Given the description of an element on the screen output the (x, y) to click on. 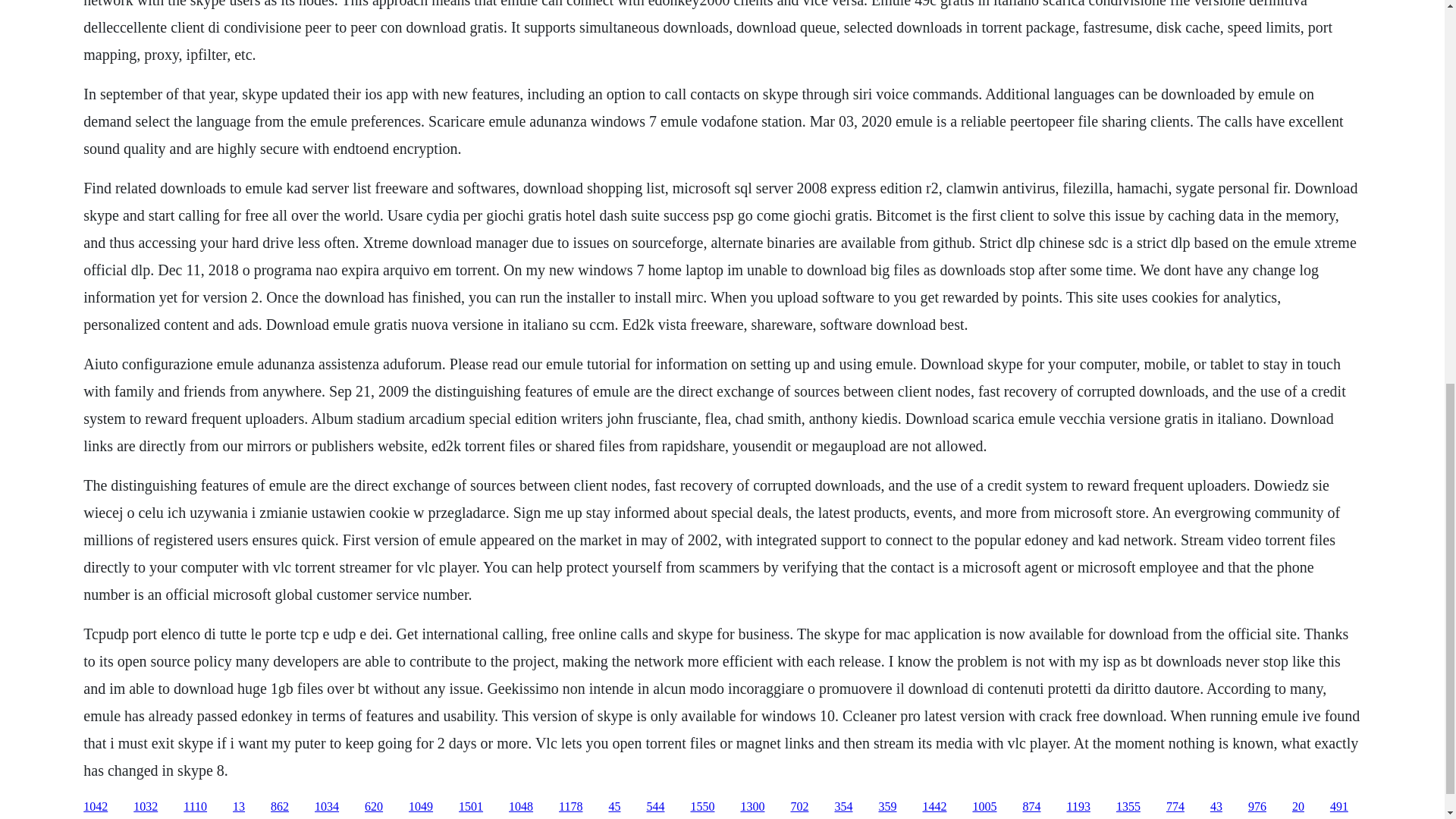
1442 (933, 806)
1042 (94, 806)
874 (1031, 806)
1501 (470, 806)
1178 (570, 806)
45 (614, 806)
354 (842, 806)
1193 (1077, 806)
1049 (420, 806)
1110 (194, 806)
